Given the description of an element on the screen output the (x, y) to click on. 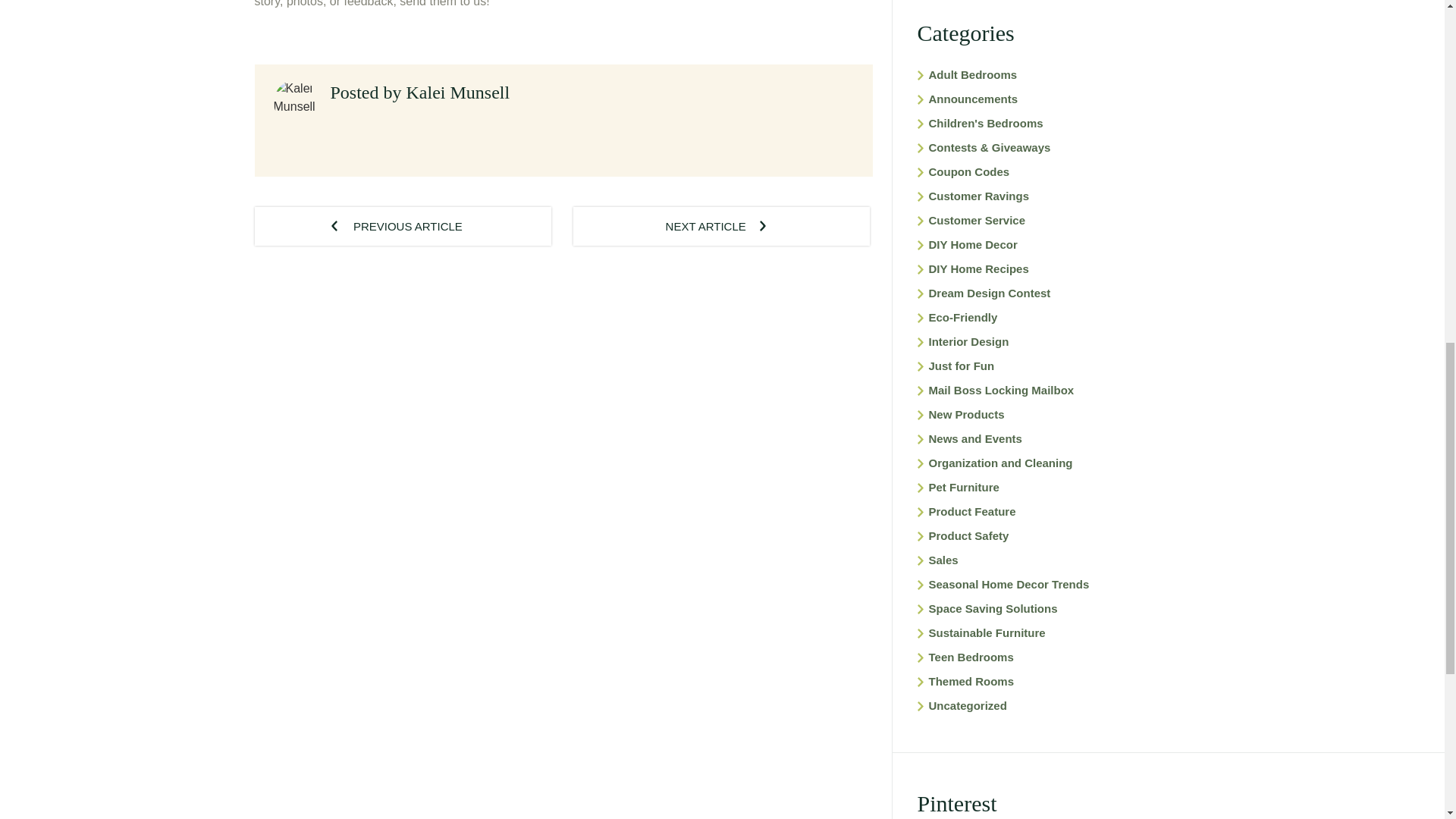
Next Article (721, 226)
Previous Article (402, 226)
